Given the description of an element on the screen output the (x, y) to click on. 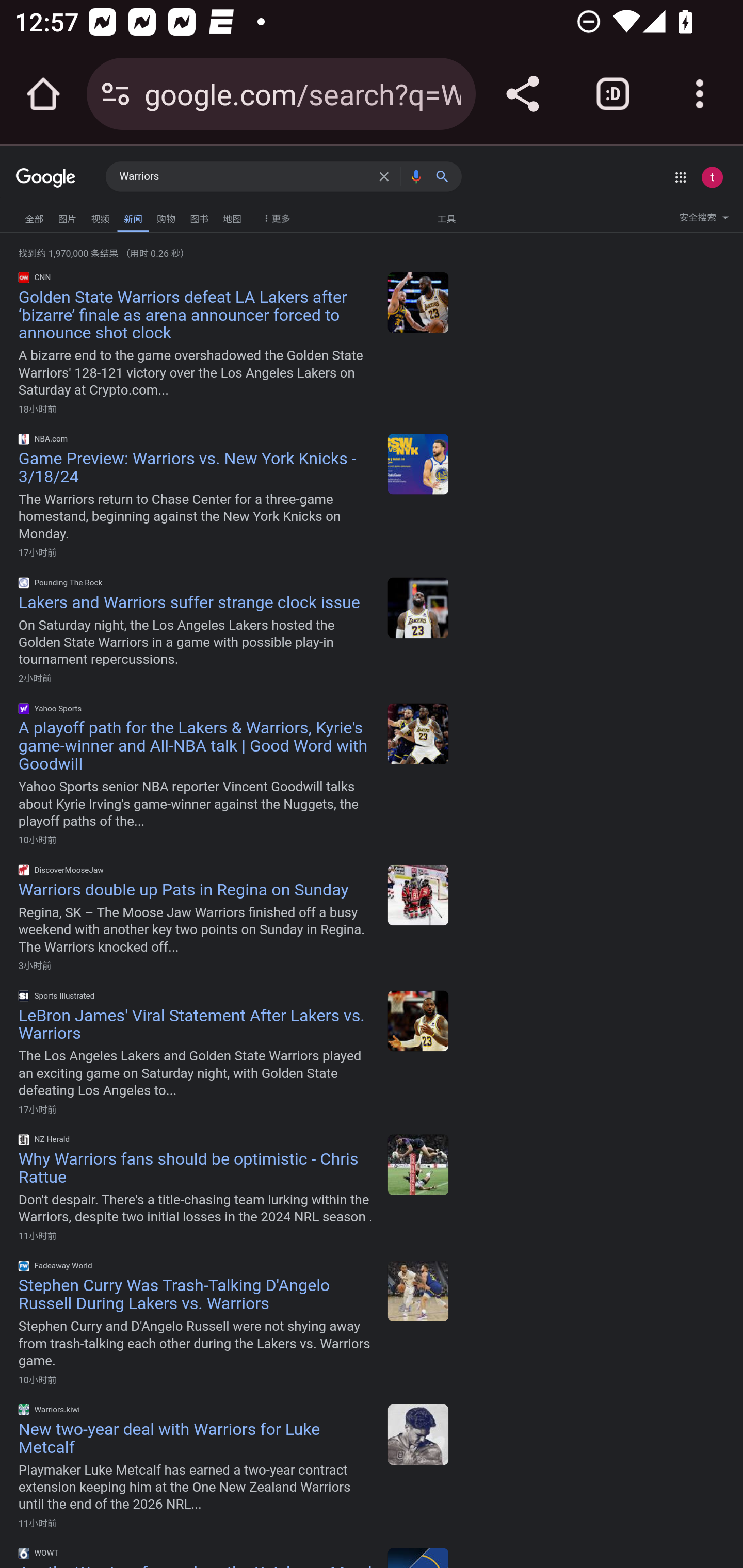
Open the home page (43, 93)
Connection is secure (115, 93)
Share (522, 93)
Switch or close tabs (612, 93)
Customize and control Google Chrome (699, 93)
清除 (386, 176)
按语音搜索 (415, 176)
Google 搜索 (446, 176)
Google 应用 (680, 176)
Google 账号： test appium (testappium002@gmail.com) (712, 176)
Google (45, 178)
Warriors (244, 177)
全部 (33, 216)
图片 (67, 216)
视频 (99, 216)
新闻 (133, 217)
购物 (166, 216)
图书 (199, 216)
地图 (232, 216)
More Filters (273, 213)
安全搜索 (703, 219)
工具 (446, 217)
